Given the description of an element on the screen output the (x, y) to click on. 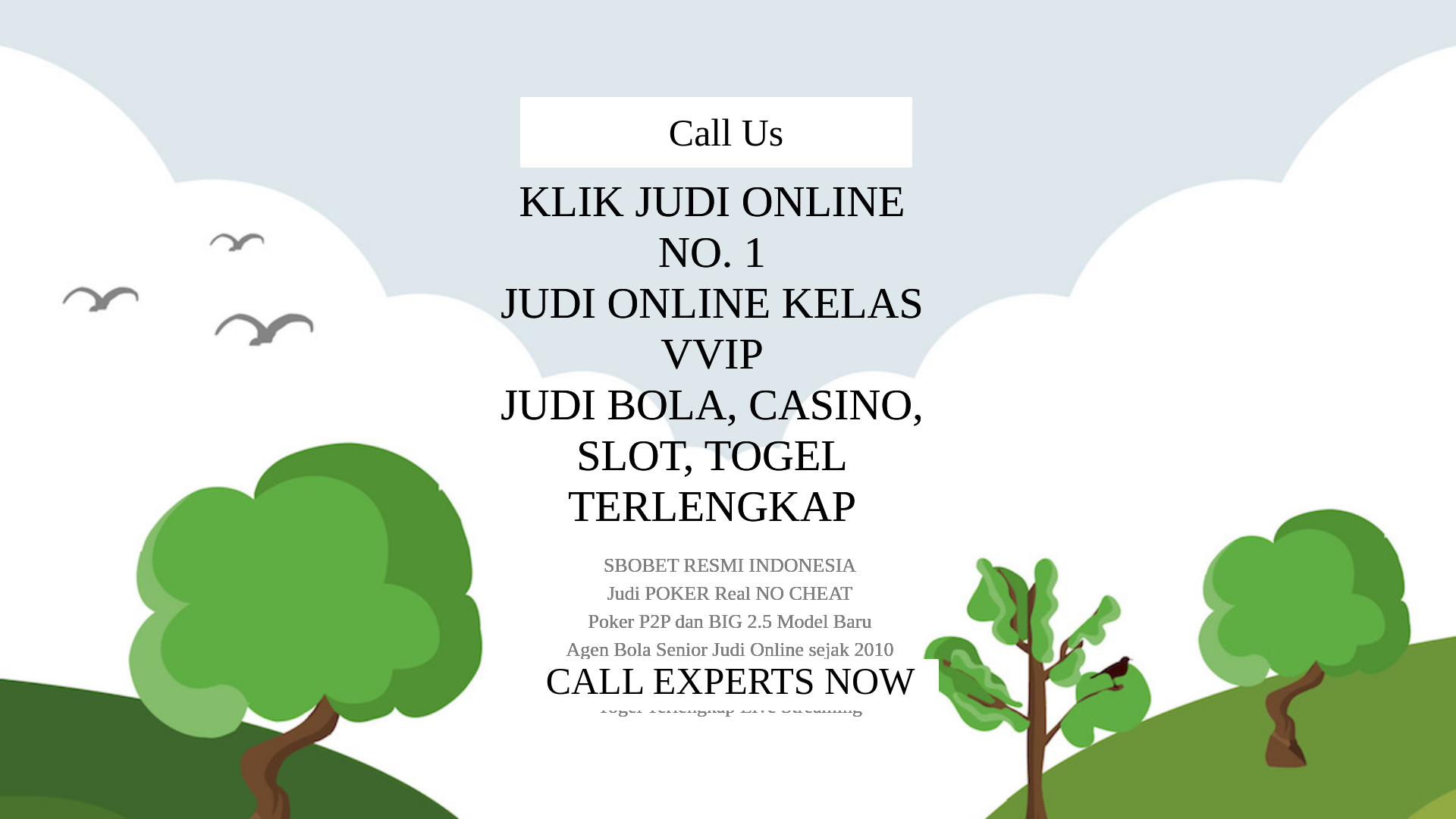
Judi Bola, Casino, Slot, Togel Terlengkap (727, 341)
Agen Bola Senior Judi Online sejak 2010 (727, 461)
ibosport alternatif (697, 249)
Judi POKER Real NO CHEAT (726, 411)
Poker P2P dan BIG 2.5 Model Baru (728, 435)
Call Us (727, 568)
Judi Online Kelas VVIP (727, 308)
Call Us (1133, 32)
SBOBET RESMI INDONESIA (727, 385)
KOLAMHOKI.COM (397, 25)
KLIK JUDI ONLINE No. 1 (727, 276)
Togel Terlengkap Live Streaming (727, 511)
